Given the description of an element on the screen output the (x, y) to click on. 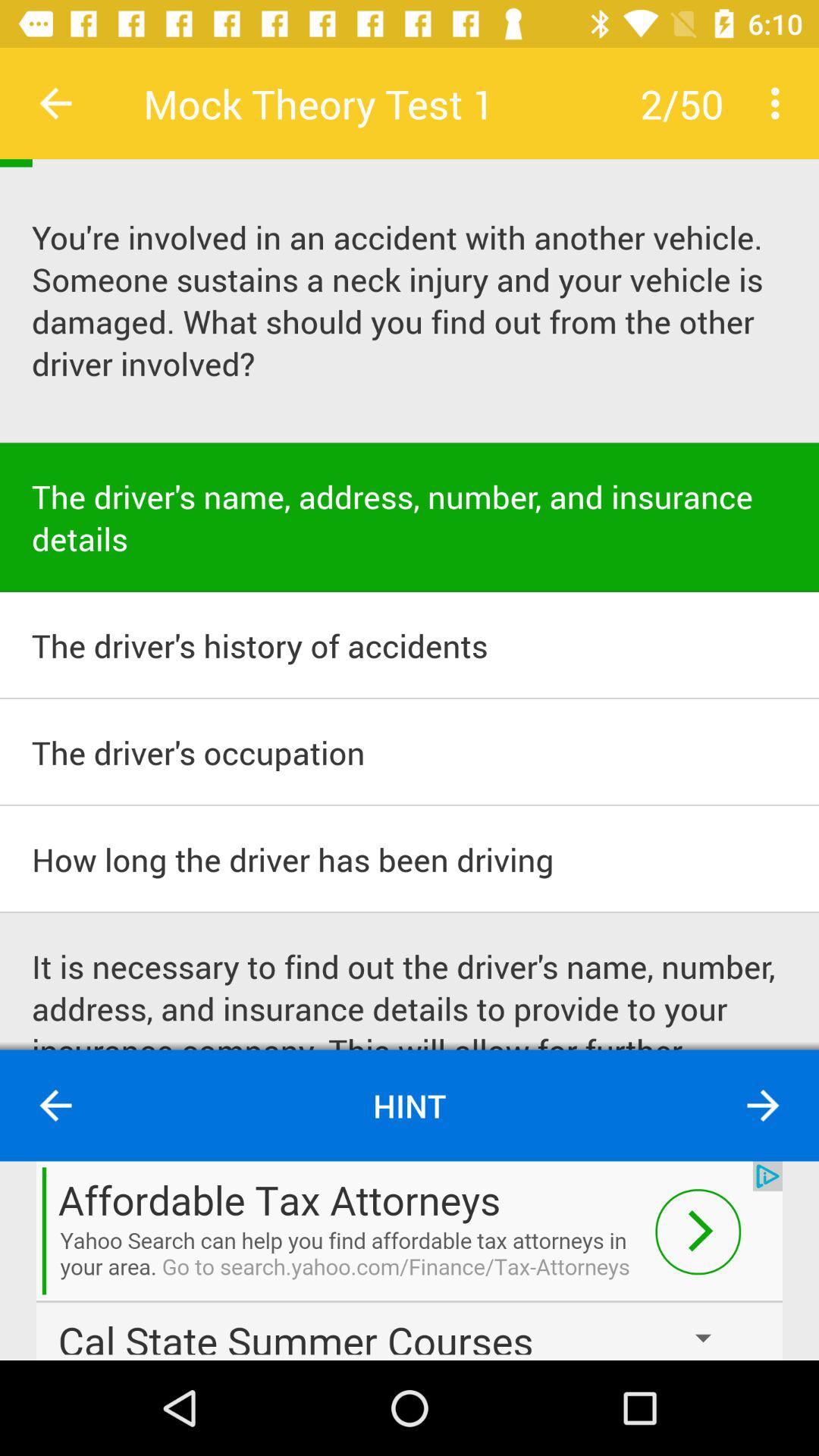
going back to the previous page (55, 103)
